Given the description of an element on the screen output the (x, y) to click on. 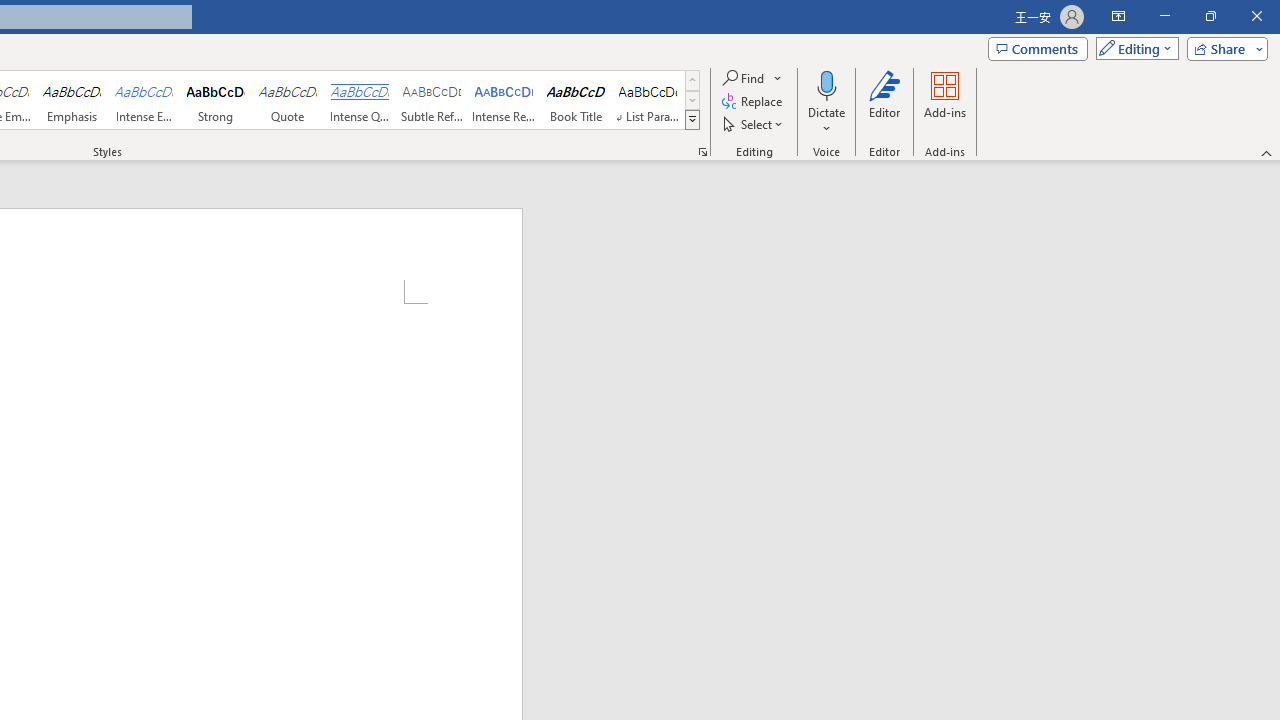
Quote (287, 100)
Collapse the Ribbon (1267, 152)
Editor (885, 102)
Intense Quote (359, 100)
Row up (692, 79)
Share (1223, 48)
Subtle Reference (431, 100)
Dictate (826, 102)
Intense Reference (504, 100)
Restore Down (1210, 16)
Mode (1133, 47)
Row Down (692, 100)
More Options (826, 121)
Strong (216, 100)
